Given the description of an element on the screen output the (x, y) to click on. 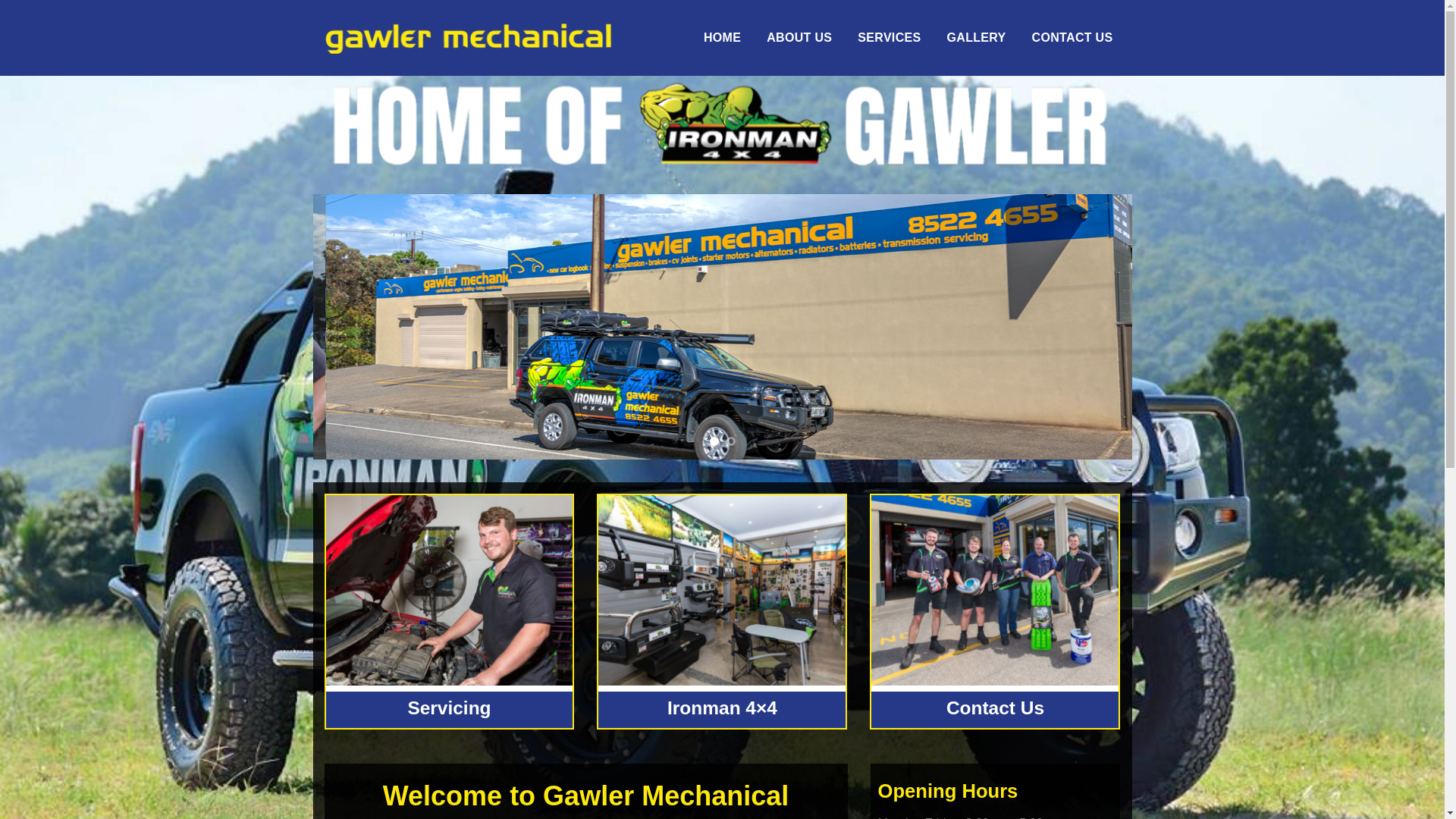
GALLERY Element type: text (975, 37)
Gawler Mechanical - Automotive Services Element type: hover (467, 37)
HOME Element type: text (722, 37)
ABOUT US Element type: text (799, 37)
Contact Us Element type: text (995, 708)
CONTACT US Element type: text (1072, 37)
SERVICES Element type: text (889, 37)
Servicing Element type: text (448, 708)
